Given the description of an element on the screen output the (x, y) to click on. 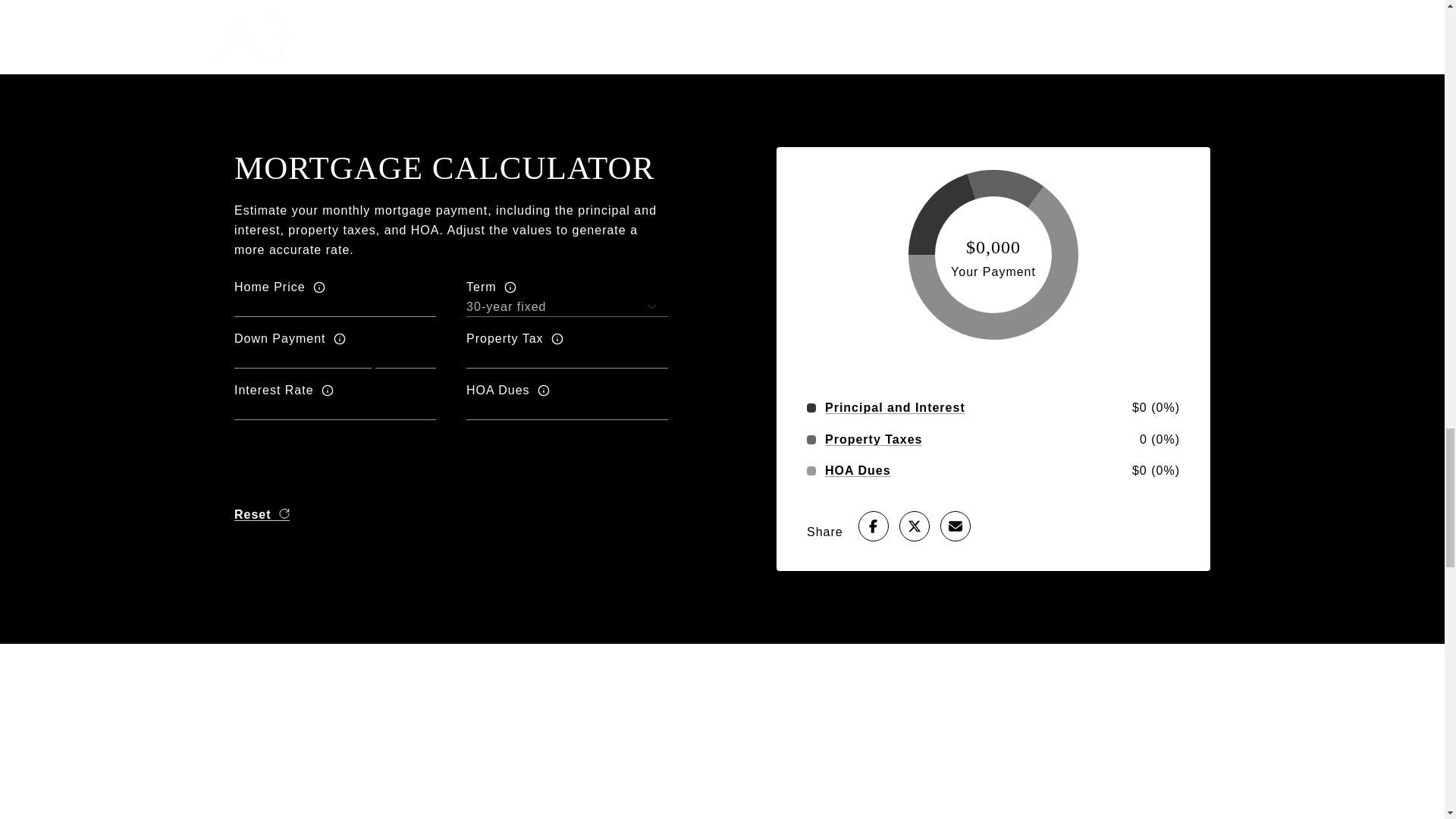
Principal and Interest (895, 408)
Property Taxes (873, 439)
Reset (261, 513)
HOA Dues (858, 470)
